Given the description of an element on the screen output the (x, y) to click on. 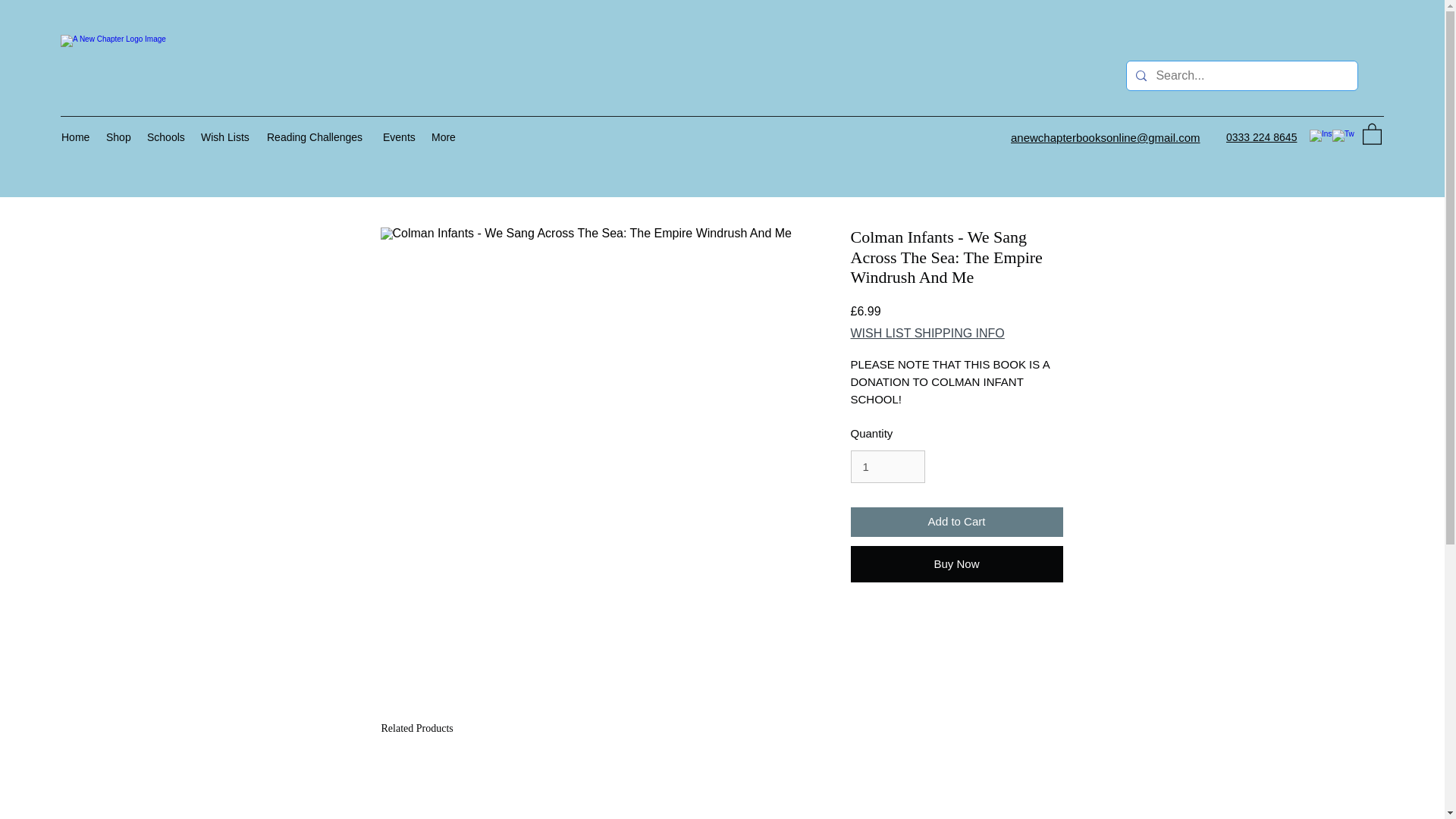
0333 224 8645 (1261, 137)
Shop (119, 137)
Home (76, 137)
Add to Cart (956, 521)
Reading Challenges (317, 137)
Events (399, 137)
1 (887, 467)
Wish Lists (226, 137)
Buy Now (956, 564)
WISH LIST SHIPPING INFO (927, 333)
